Given the description of an element on the screen output the (x, y) to click on. 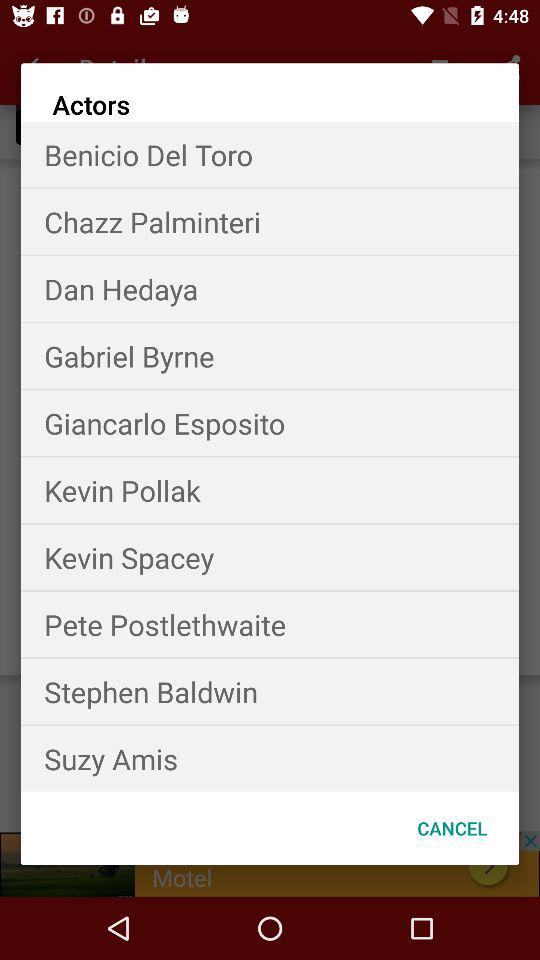
click item above the    kevin spacey item (269, 489)
